Given the description of an element on the screen output the (x, y) to click on. 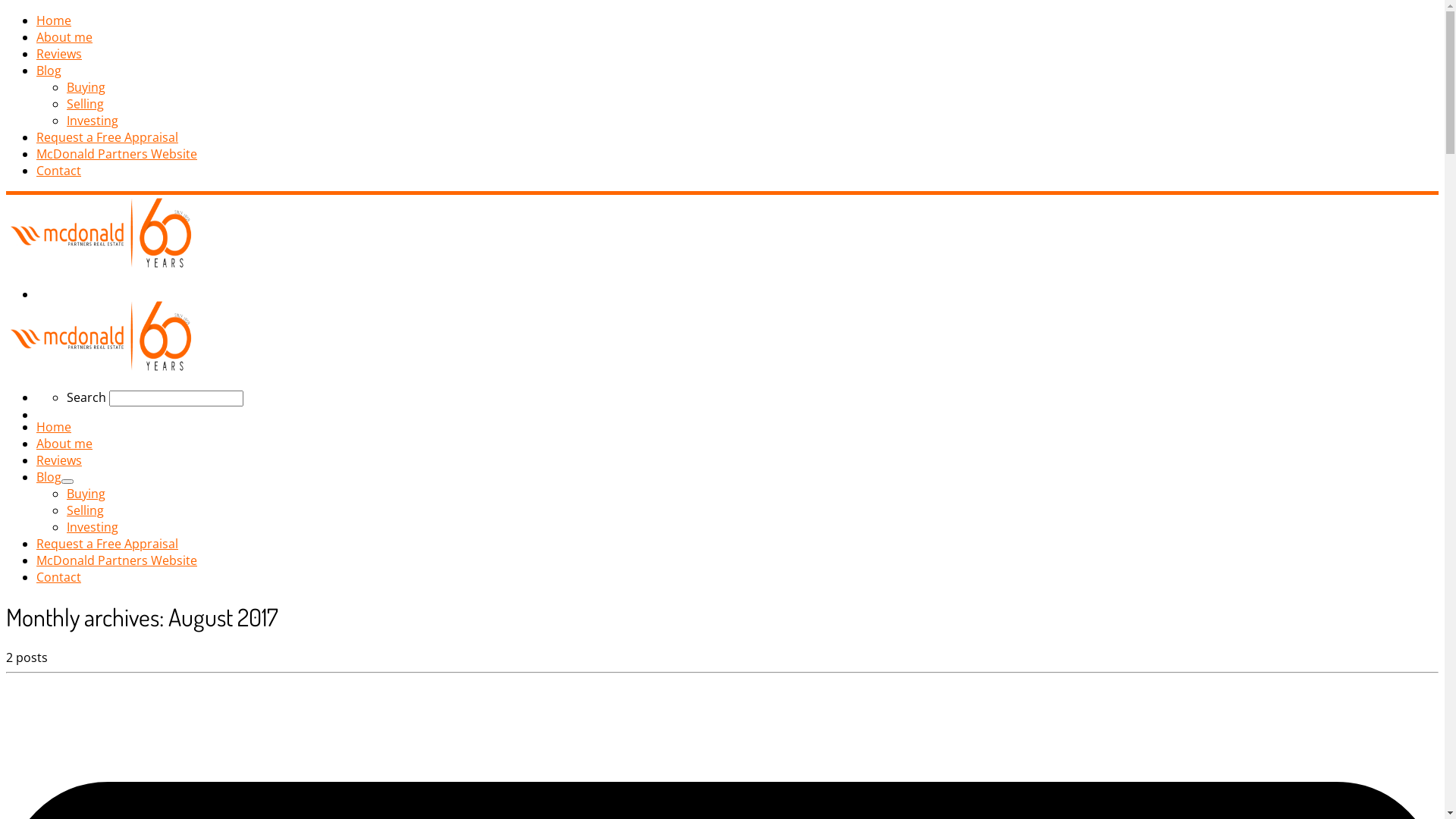
Selling Element type: text (84, 103)
Request a Free Appraisal Element type: text (107, 136)
About me Element type: text (64, 36)
Buying Element type: text (85, 493)
Reviews Element type: text (58, 459)
McDonald Partners Website Element type: text (116, 560)
About me Element type: text (64, 443)
Blog Element type: text (48, 70)
McDonald Partners Website Element type: text (116, 153)
Buying Element type: text (85, 86)
Contact Element type: text (58, 170)
Investing Element type: text (92, 526)
Selling Element type: text (84, 510)
Blog Element type: text (48, 476)
Home Element type: text (53, 20)
Home Element type: text (53, 426)
Investing Element type: text (92, 120)
Request a Free Appraisal Element type: text (107, 543)
Reviews Element type: text (58, 53)
Contact Element type: text (58, 576)
